Given the description of an element on the screen output the (x, y) to click on. 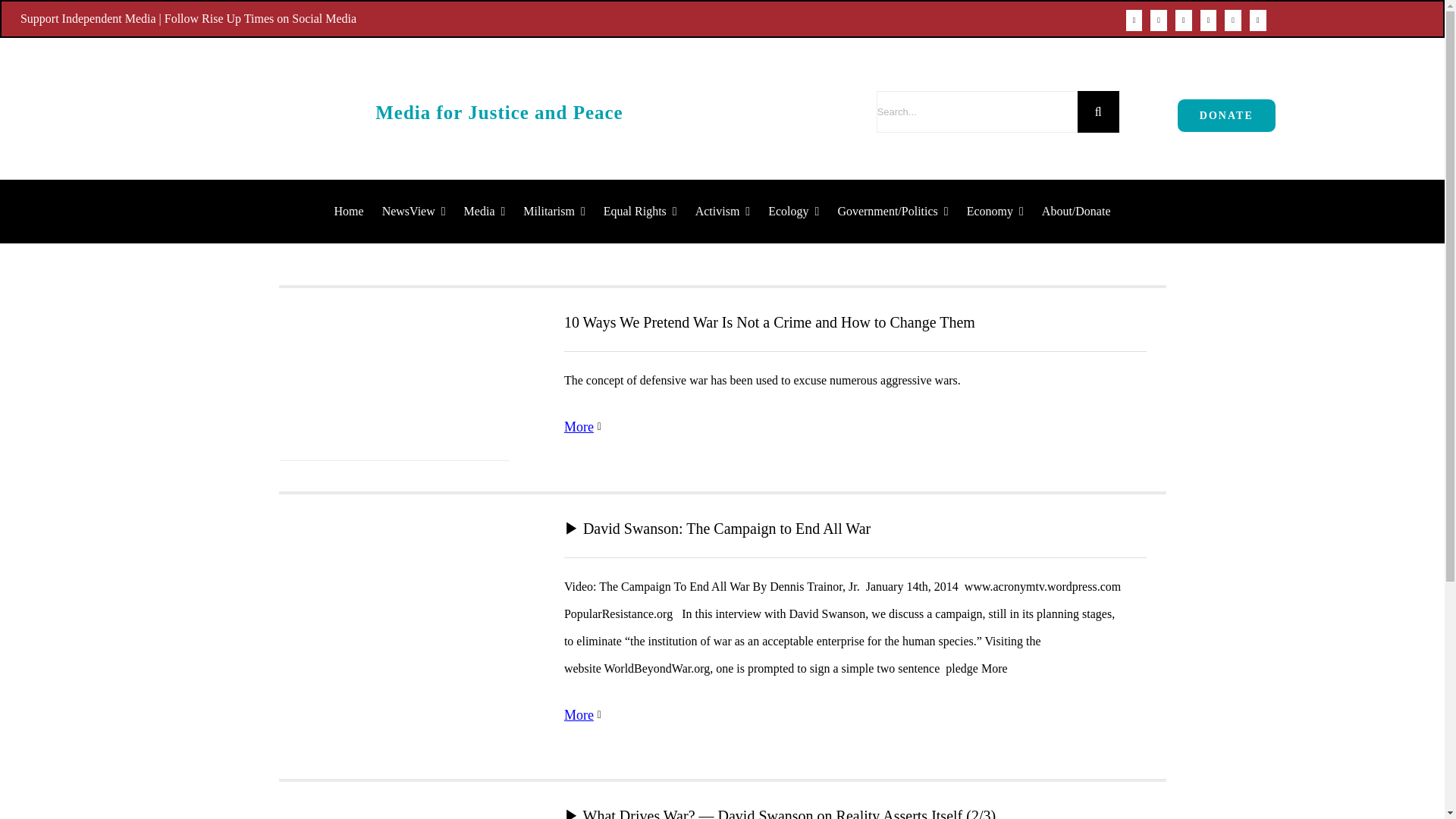
DONATE (1226, 115)
Equal Rights (639, 211)
Militarism (553, 211)
NewsView (413, 211)
Media (484, 211)
Home (348, 211)
